Given the description of an element on the screen output the (x, y) to click on. 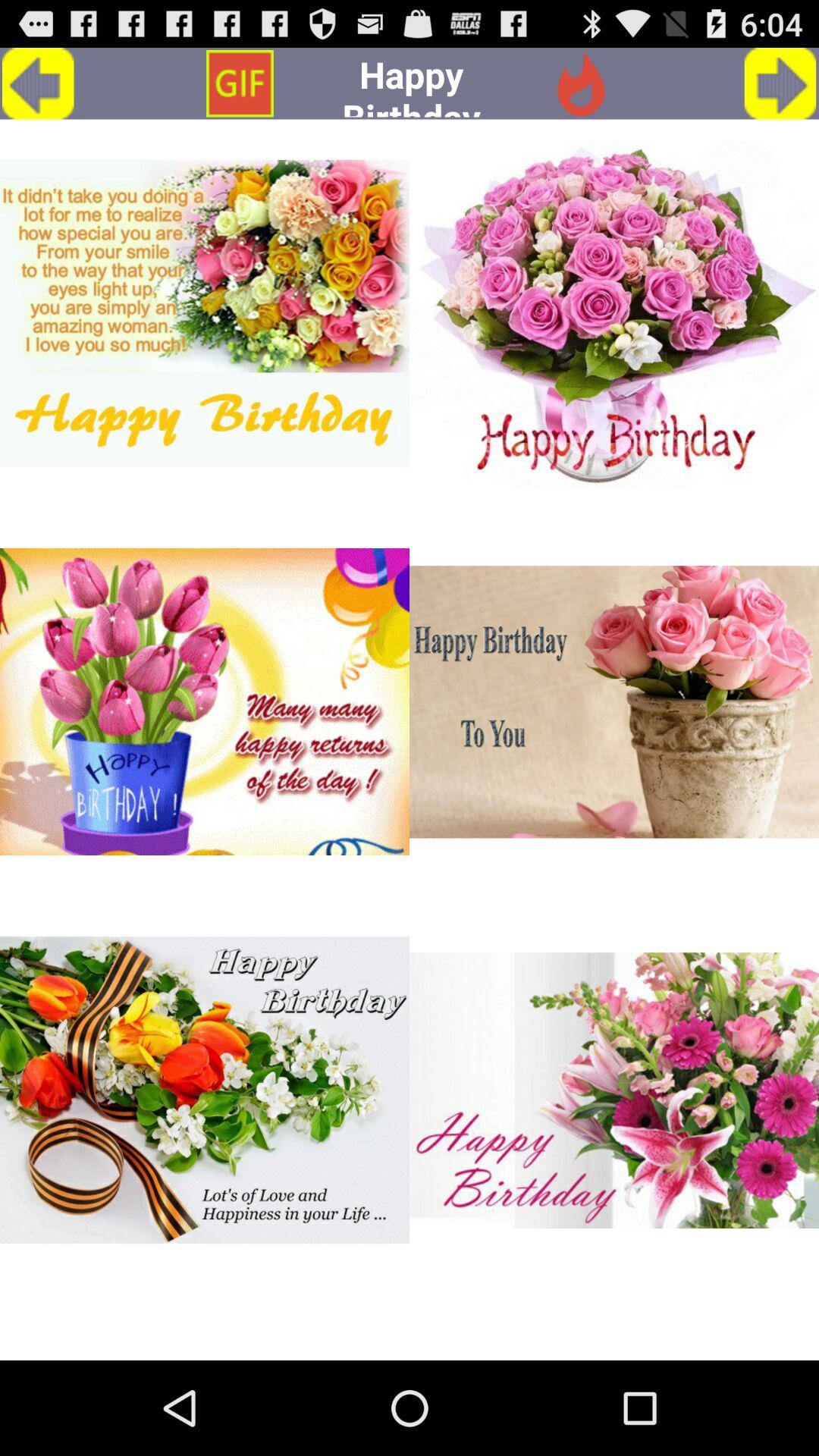
card image option (614, 313)
